Given the description of an element on the screen output the (x, y) to click on. 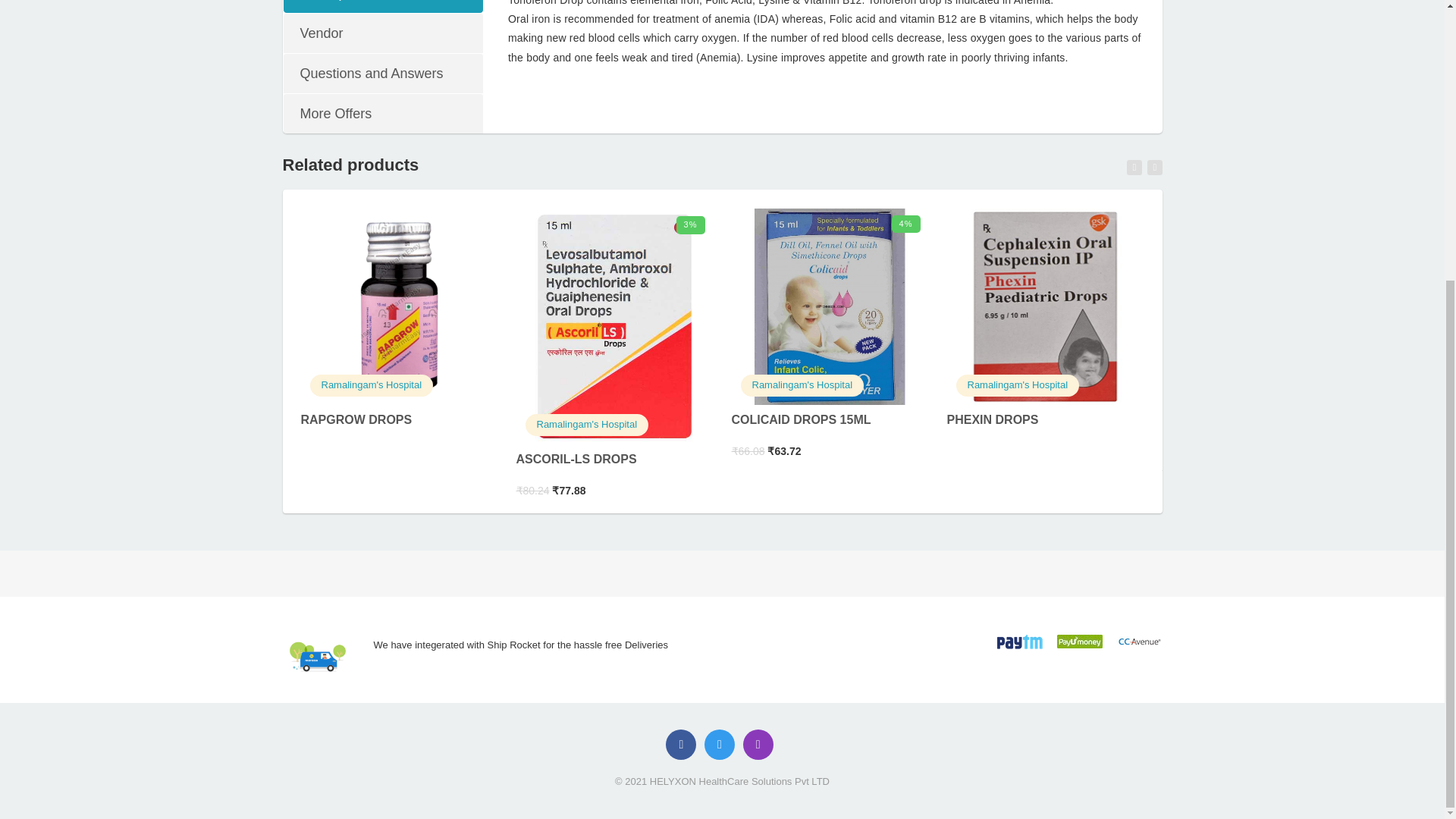
ASCORIL-LS DROPS (575, 459)
ASCORIL-LS DROPS (575, 459)
COLICAID DROPS 15ML (828, 306)
Ramalingam'S Hospital (587, 423)
PHEXIN DROPS (1018, 384)
RAPGROW DROPS (371, 384)
RAPGROW DROPS (355, 419)
PHEXIN DROPS (992, 419)
COLICAID DROPS 15ML (800, 419)
More Offers (382, 113)
Vendor (382, 33)
RAPGROW DROPS (397, 306)
Questions and Answers (382, 73)
PHEXIN DROPS (1044, 306)
ASCORIL-LS DROPS (587, 423)
